Given the description of an element on the screen output the (x, y) to click on. 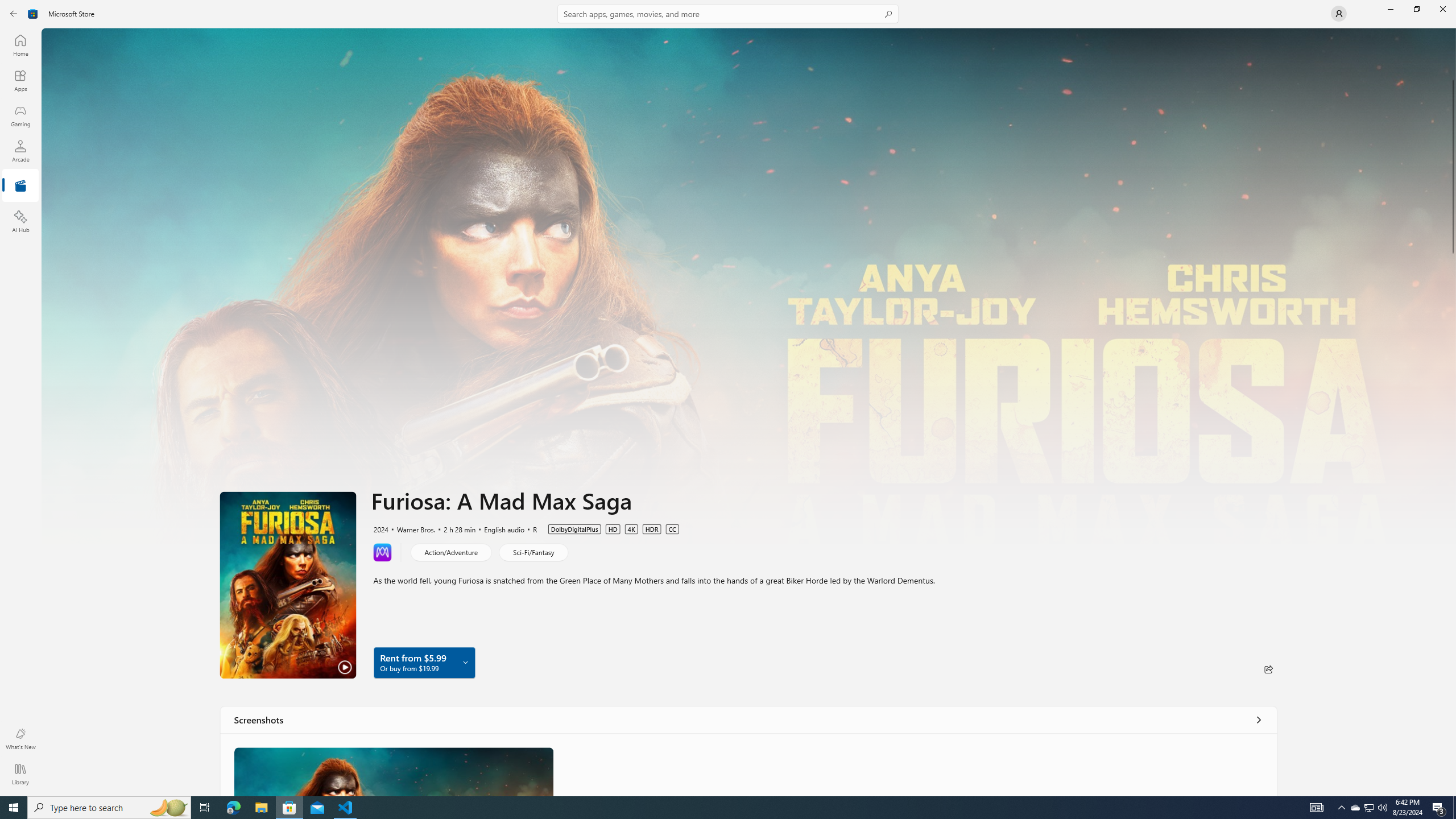
2024 (379, 528)
Vertical Small Increase (1452, 792)
Class: ListViewItem (393, 771)
AutomationID: NavigationControl (728, 398)
Learn more about Movies Anywhere (381, 551)
2 h 28 min (453, 528)
Vertical Small Decrease (1452, 31)
R (529, 528)
Sci-Fi/Fantasy (533, 551)
Back (13, 13)
